Given the description of an element on the screen output the (x, y) to click on. 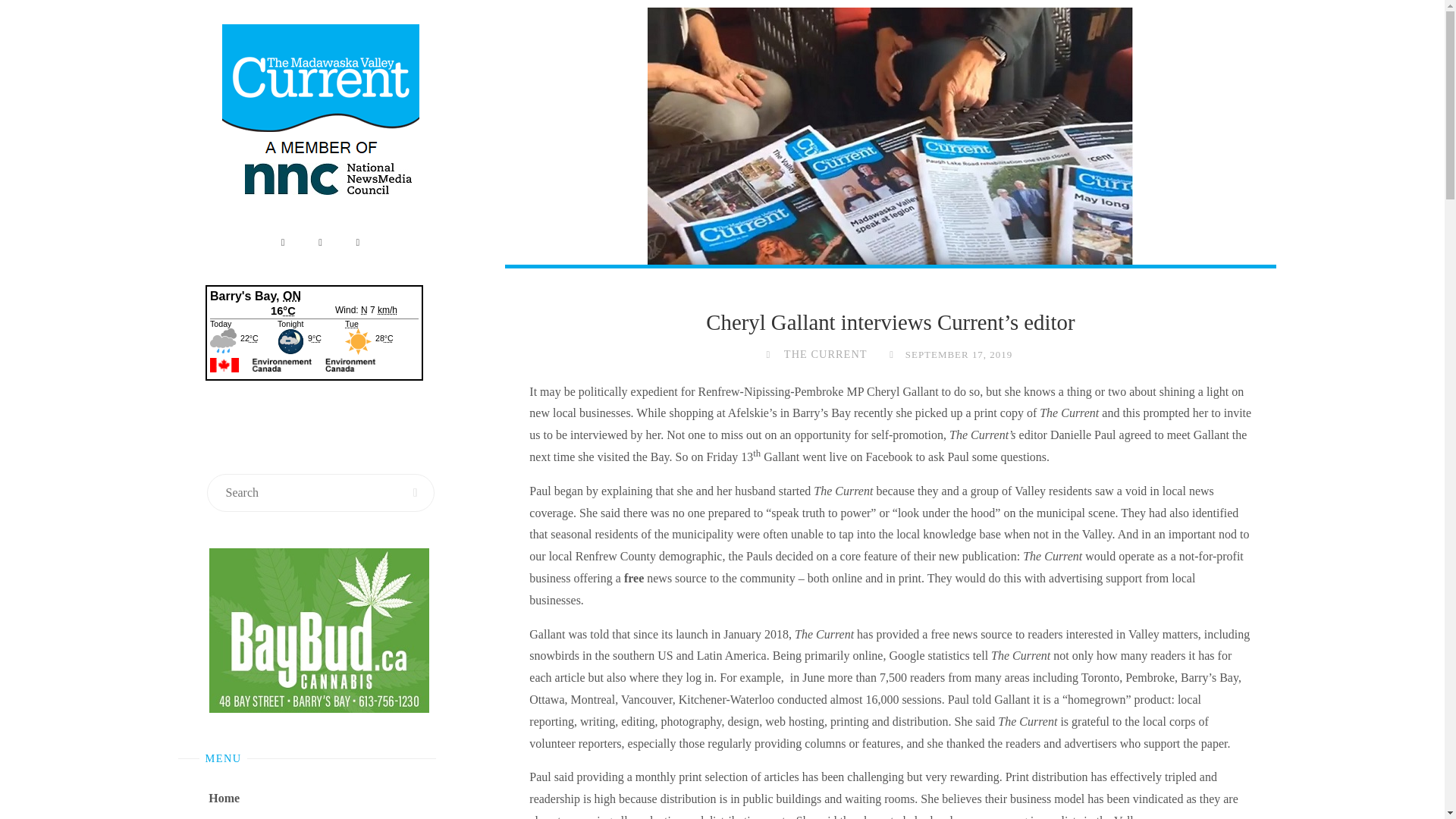
Author (767, 354)
Madawaska Valley Current (320, 115)
THE CURRENT (824, 354)
View all posts by The Current (824, 354)
Date (890, 354)
Search (415, 493)
Valley news (238, 817)
Environment Canada Weather (313, 357)
